Given the description of an element on the screen output the (x, y) to click on. 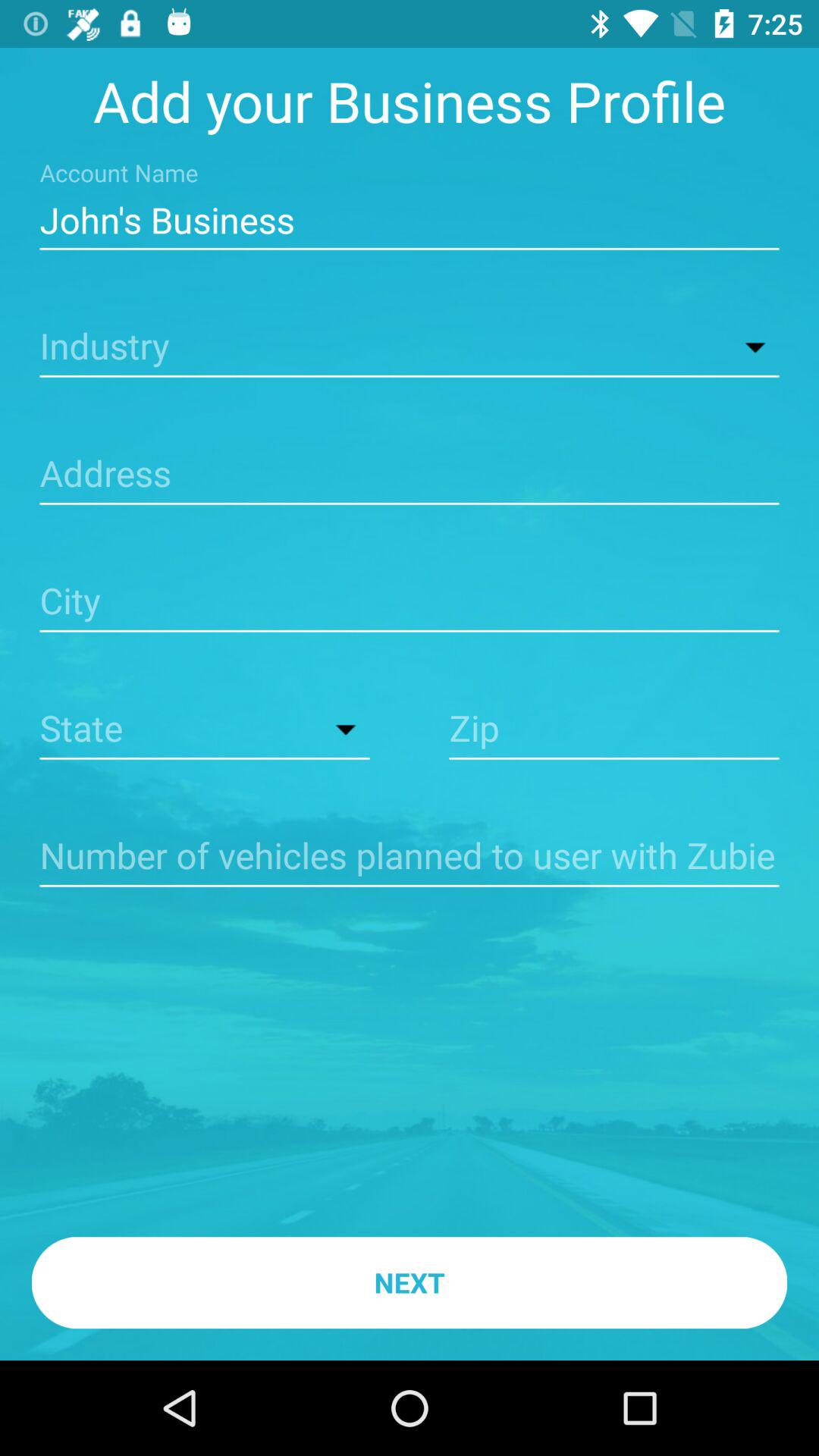
add address (409, 475)
